Given the description of an element on the screen output the (x, y) to click on. 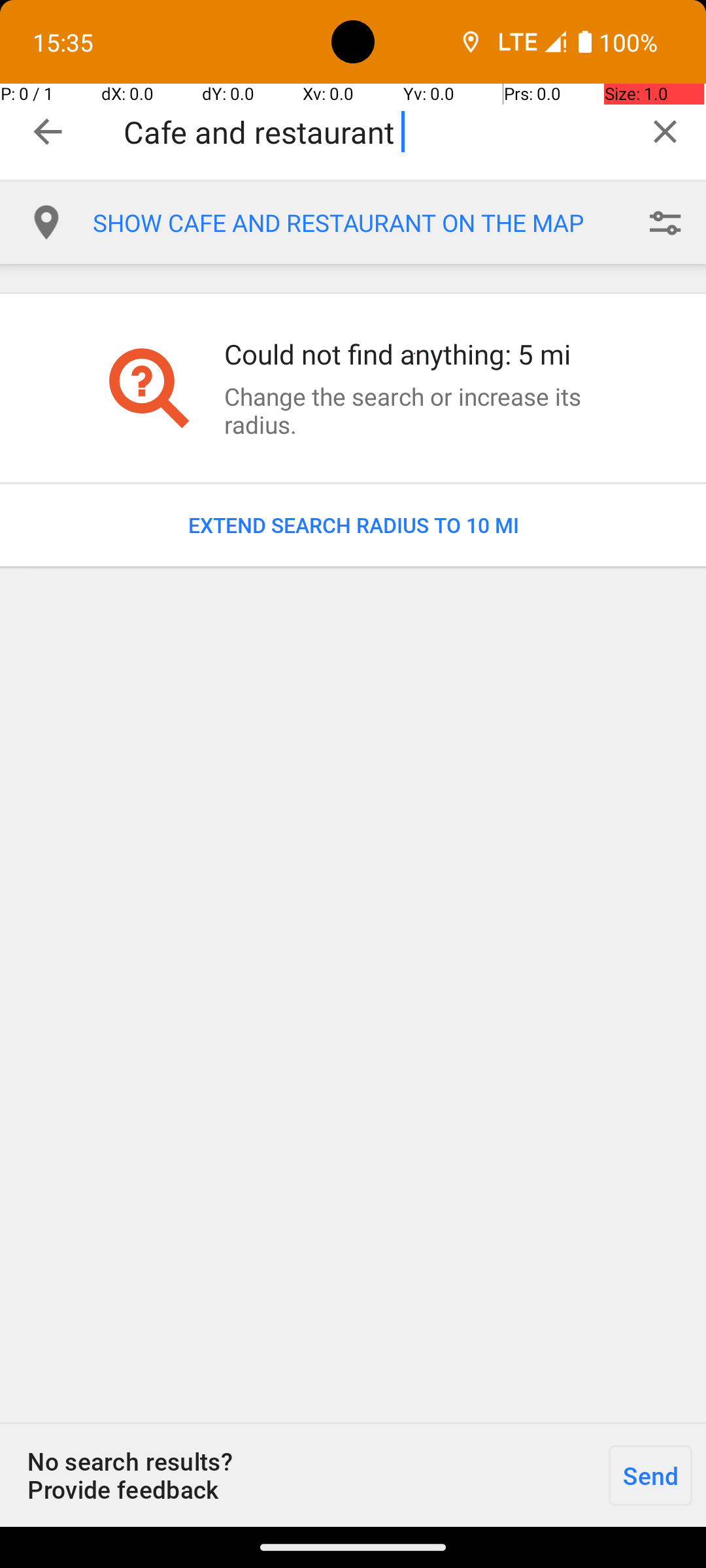
No search results?
Provide feedback Element type: android.widget.TextView (297, 1475)
Cafe and restaurant  Element type: android.widget.EditText (373, 131)
SHOW CAFE AND RESTAURANT ON THE MAP Element type: android.widget.TextView (357, 222)
Custom filter Element type: android.widget.ImageButton (664, 222)
Send Element type: android.widget.TextView (650, 1475)
Could not find anything: 5 mi Element type: android.widget.TextView (414, 353)
Change the search or increase its radius. Element type: android.widget.TextView (414, 410)
EXTEND SEARCH RADIUS TO 10 MI Element type: android.widget.TextView (352, 524)
